Given the description of an element on the screen output the (x, y) to click on. 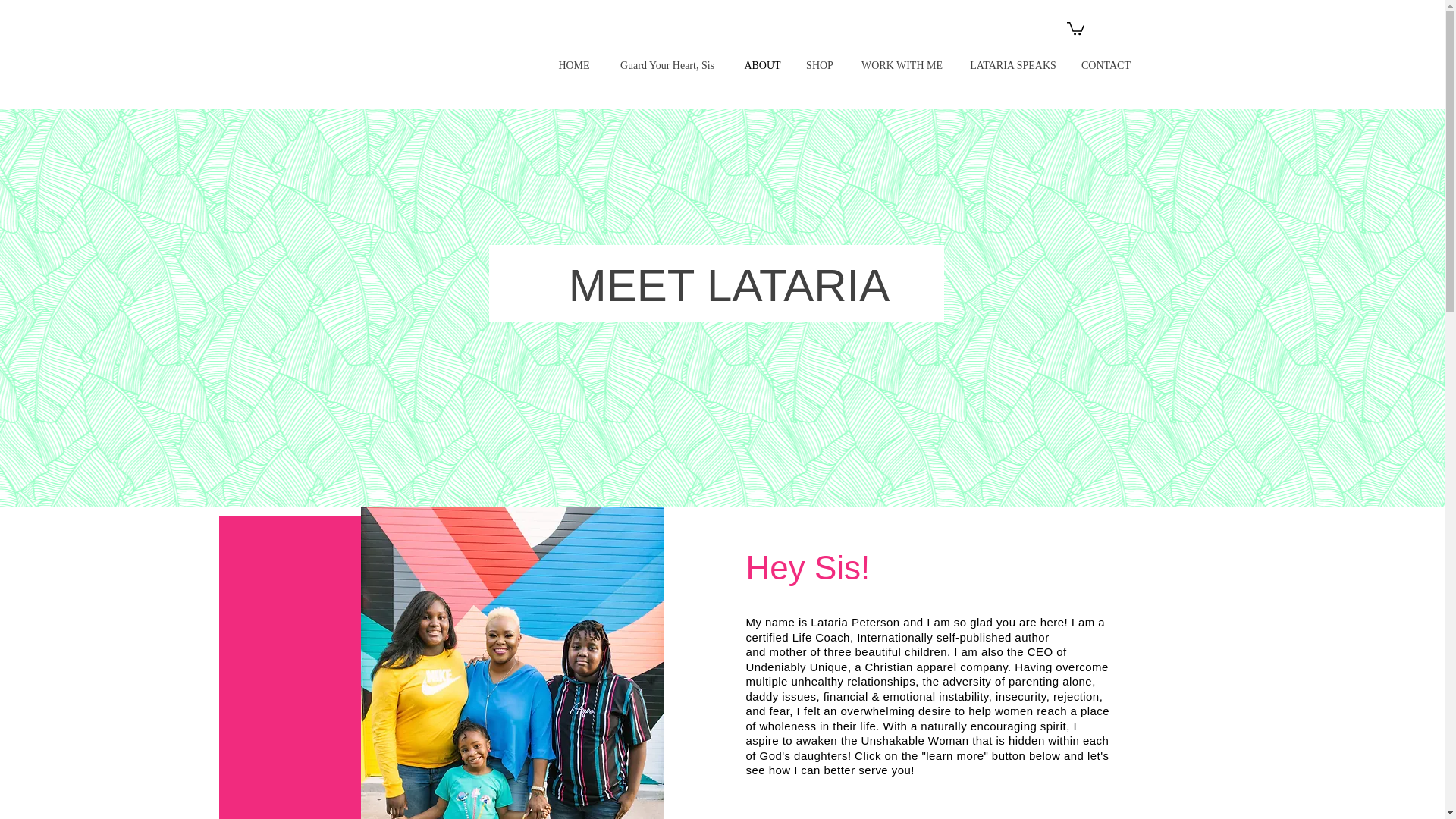
WORK WITH ME (900, 65)
family.jpg (512, 662)
Guard Your Heart, Sis (667, 65)
LATARIA SPEAKS (1012, 65)
HOME (574, 65)
ABOUT (762, 65)
SHOP (820, 65)
CONTACT (1105, 65)
